Given the description of an element on the screen output the (x, y) to click on. 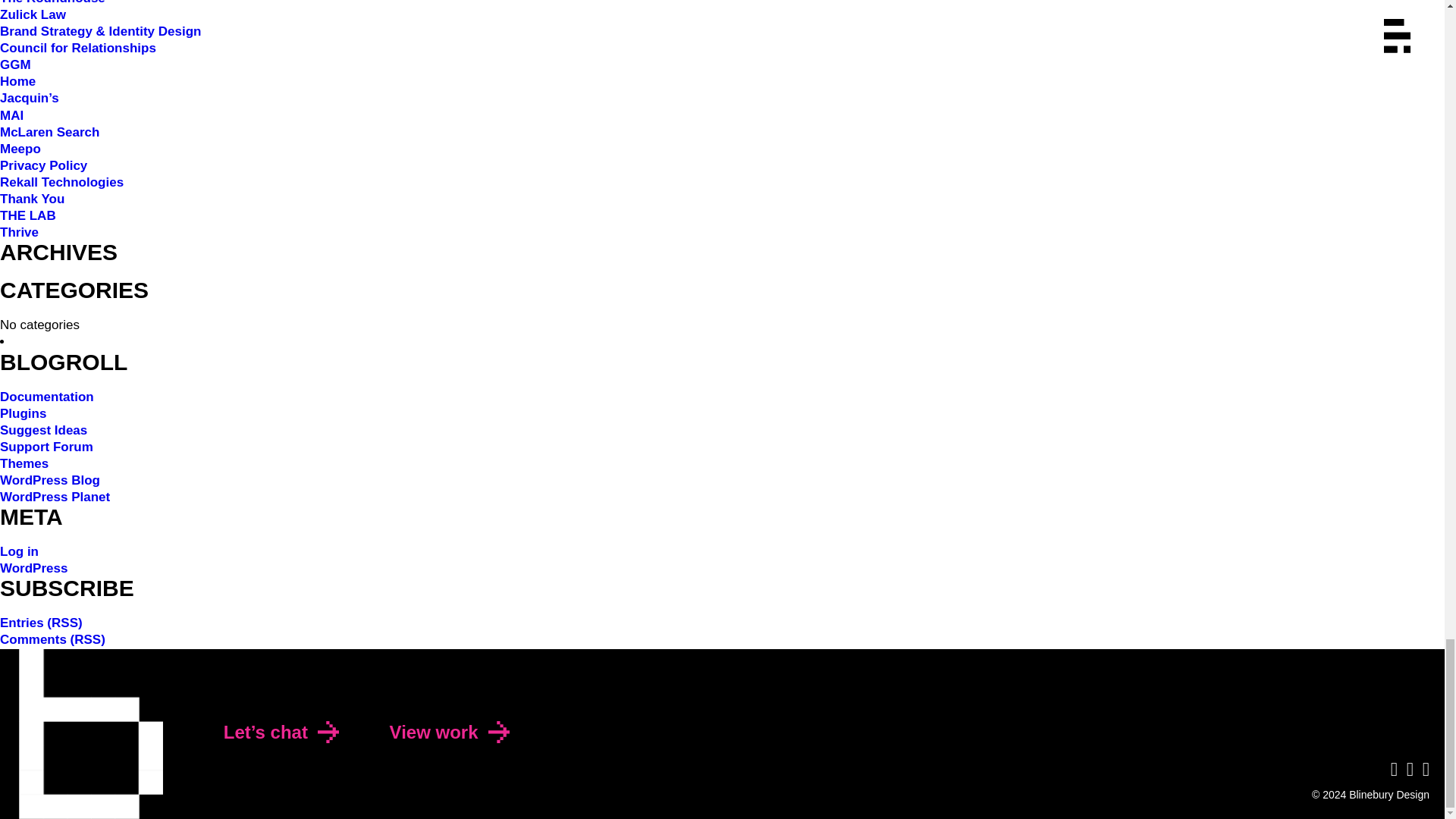
Contact Philadelphia Web Design Studio (265, 731)
Council for Relationships (77, 47)
Philadelphia Web Design Studio Portfolio (434, 731)
The Roundhouse (52, 2)
Home (17, 81)
Zulick Law (32, 14)
GGM (15, 64)
